Given the description of an element on the screen output the (x, y) to click on. 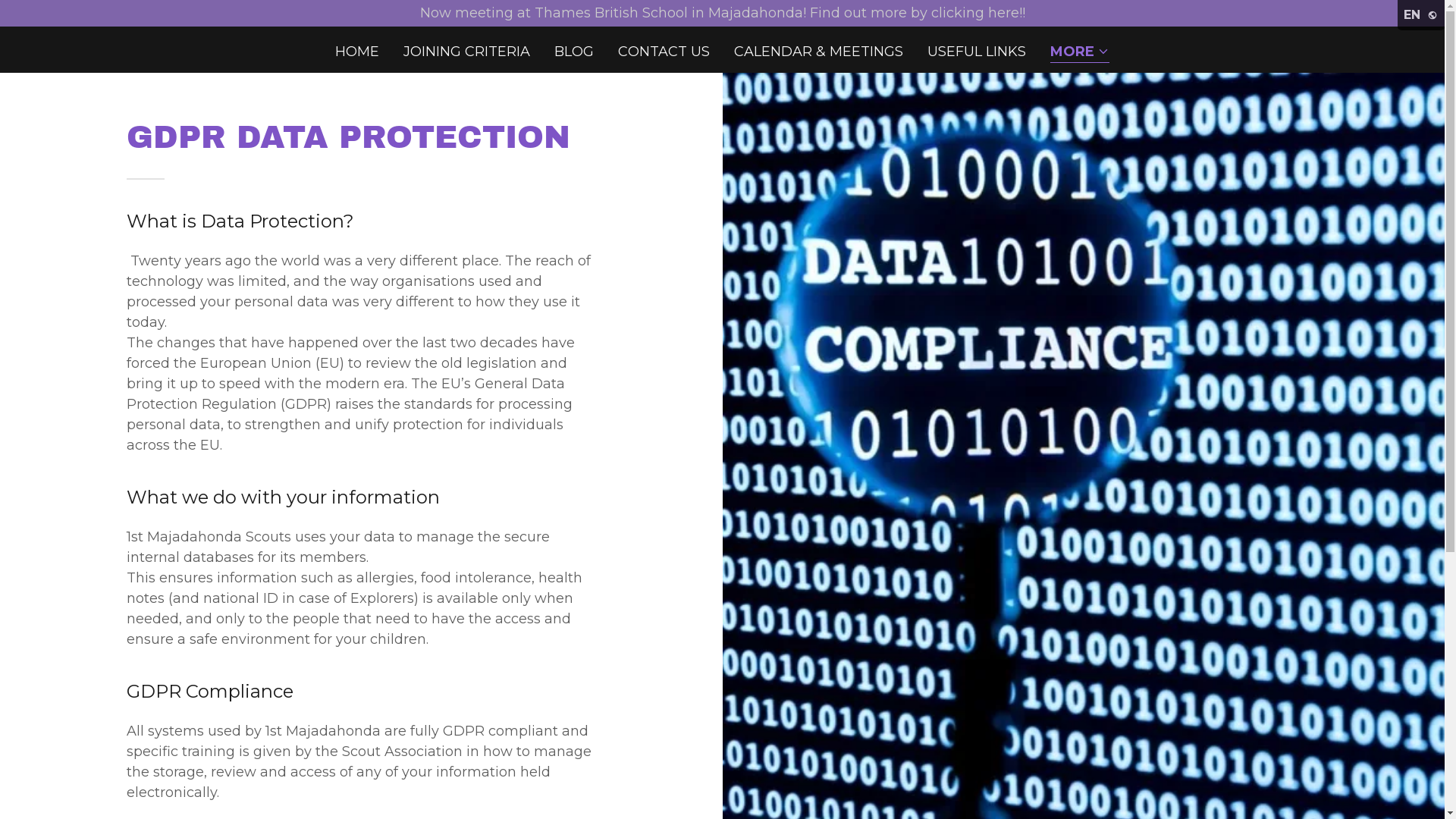
HOME Element type: text (356, 51)
JOINING CRITERIA Element type: text (466, 51)
USEFUL LINKS Element type: text (976, 51)
CONTACT US Element type: text (663, 51)
MORE Element type: text (1079, 52)
BLOG Element type: text (573, 51)
CALENDAR & MEETINGS Element type: text (818, 51)
